Given the description of an element on the screen output the (x, y) to click on. 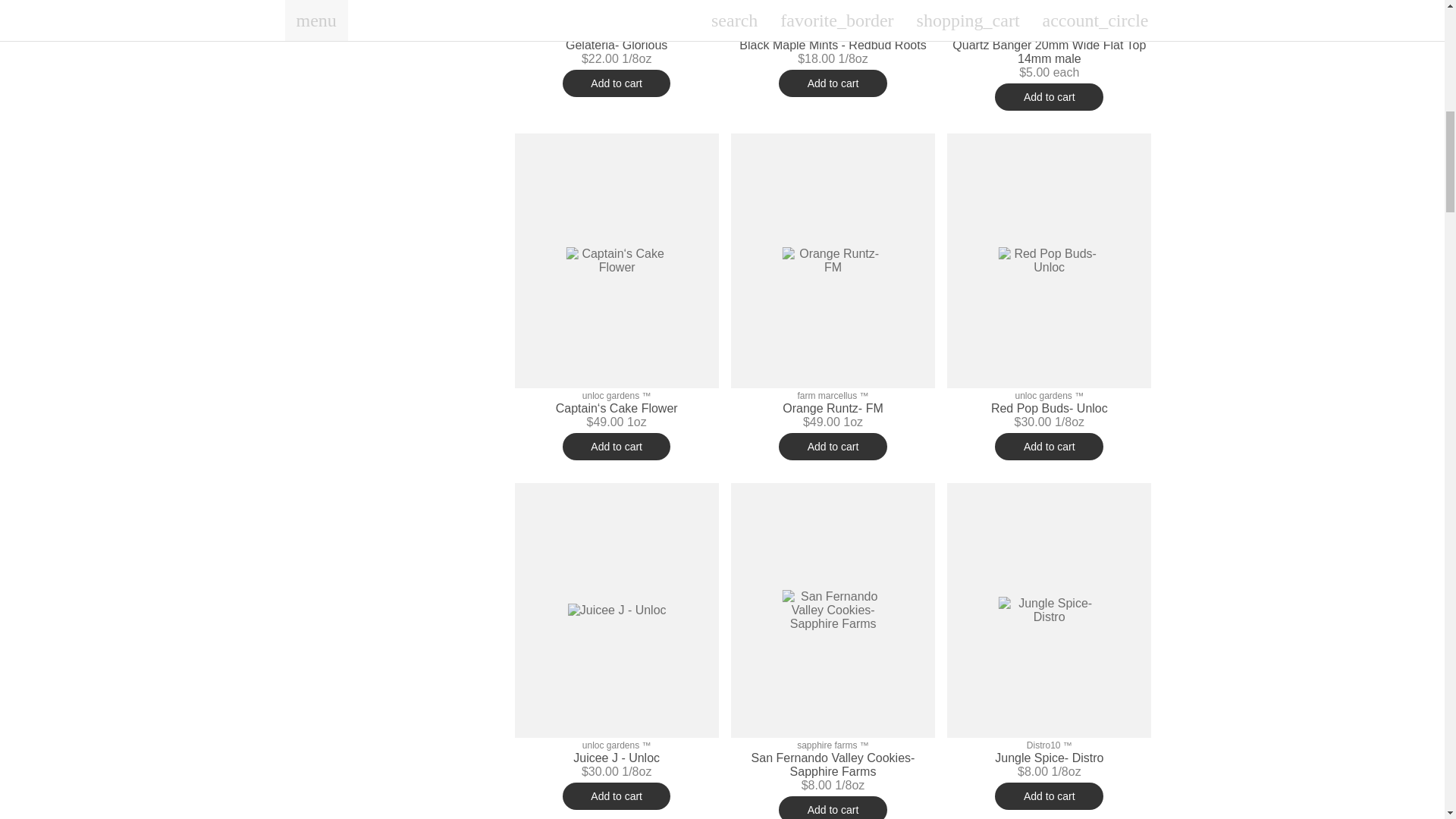
Add to cart (832, 83)
Add to cart (616, 83)
Add to cart (1048, 96)
